Given the description of an element on the screen output the (x, y) to click on. 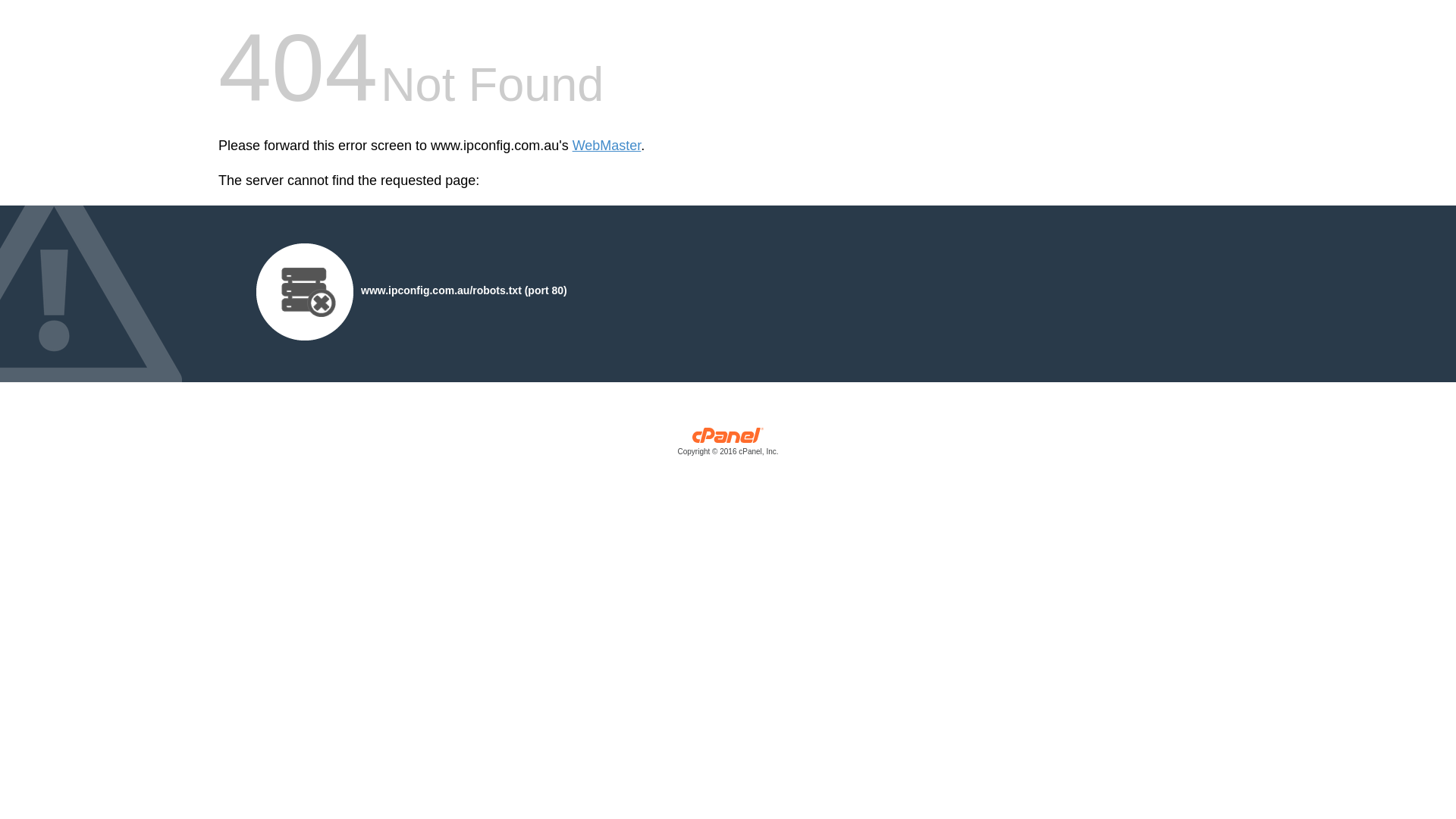
WebMaster Element type: text (606, 145)
